Given the description of an element on the screen output the (x, y) to click on. 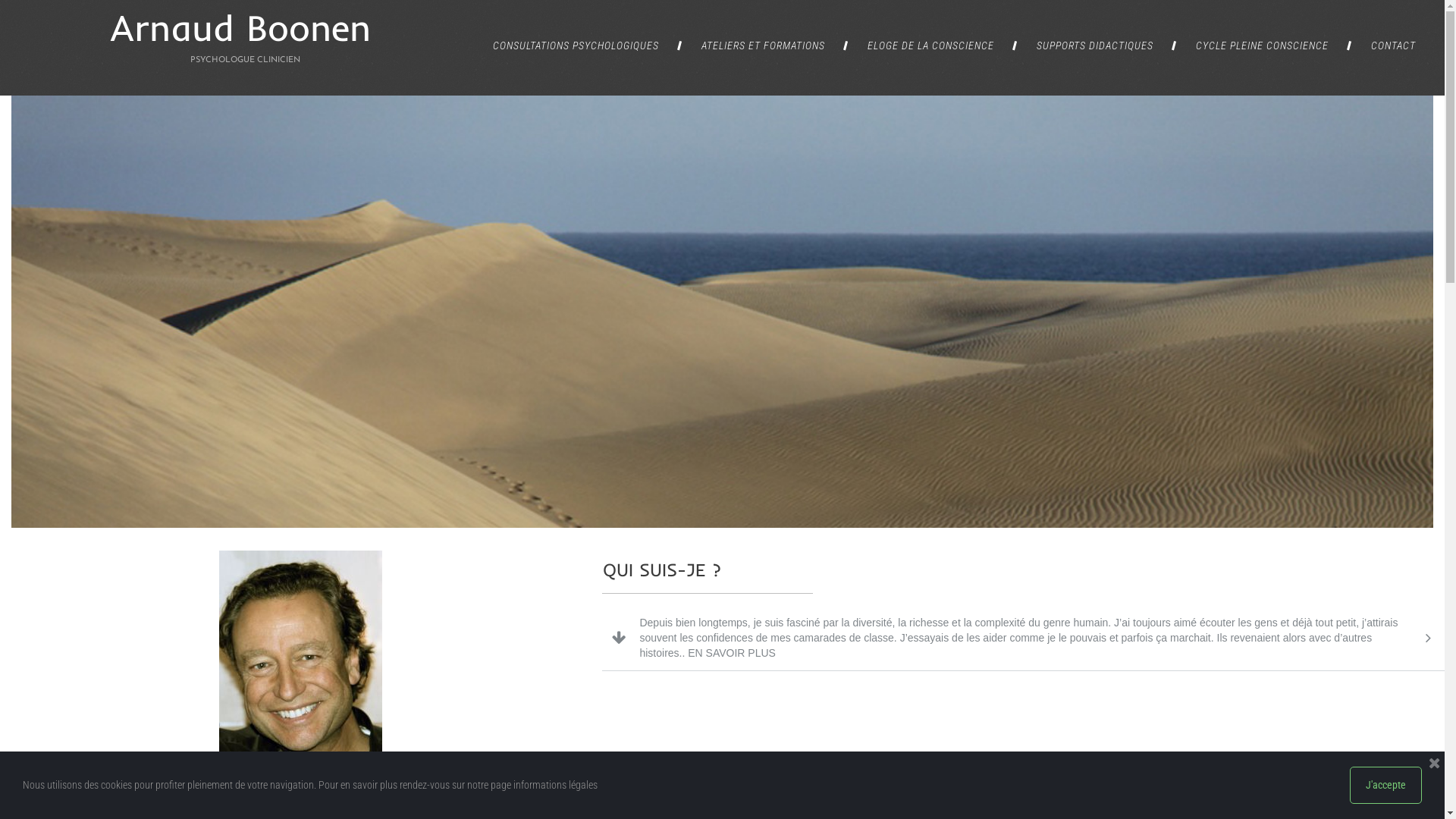
CYCLE PLEINE CONSCIENCE Element type: text (1261, 45)
ELOGE DE LA CONSCIENCE Element type: text (930, 45)
ATELIERS ET FORMATIONS Element type: text (763, 45)
SUPPORTS DIDACTIQUES Element type: text (1094, 45)
J'accepte Element type: text (1385, 784)
CONTACT Element type: text (1393, 45)
Arnaud Boonen Element type: text (239, 27)
CONSULTATIONS PSYCHOLOGIQUES Element type: text (575, 45)
